Given the description of an element on the screen output the (x, y) to click on. 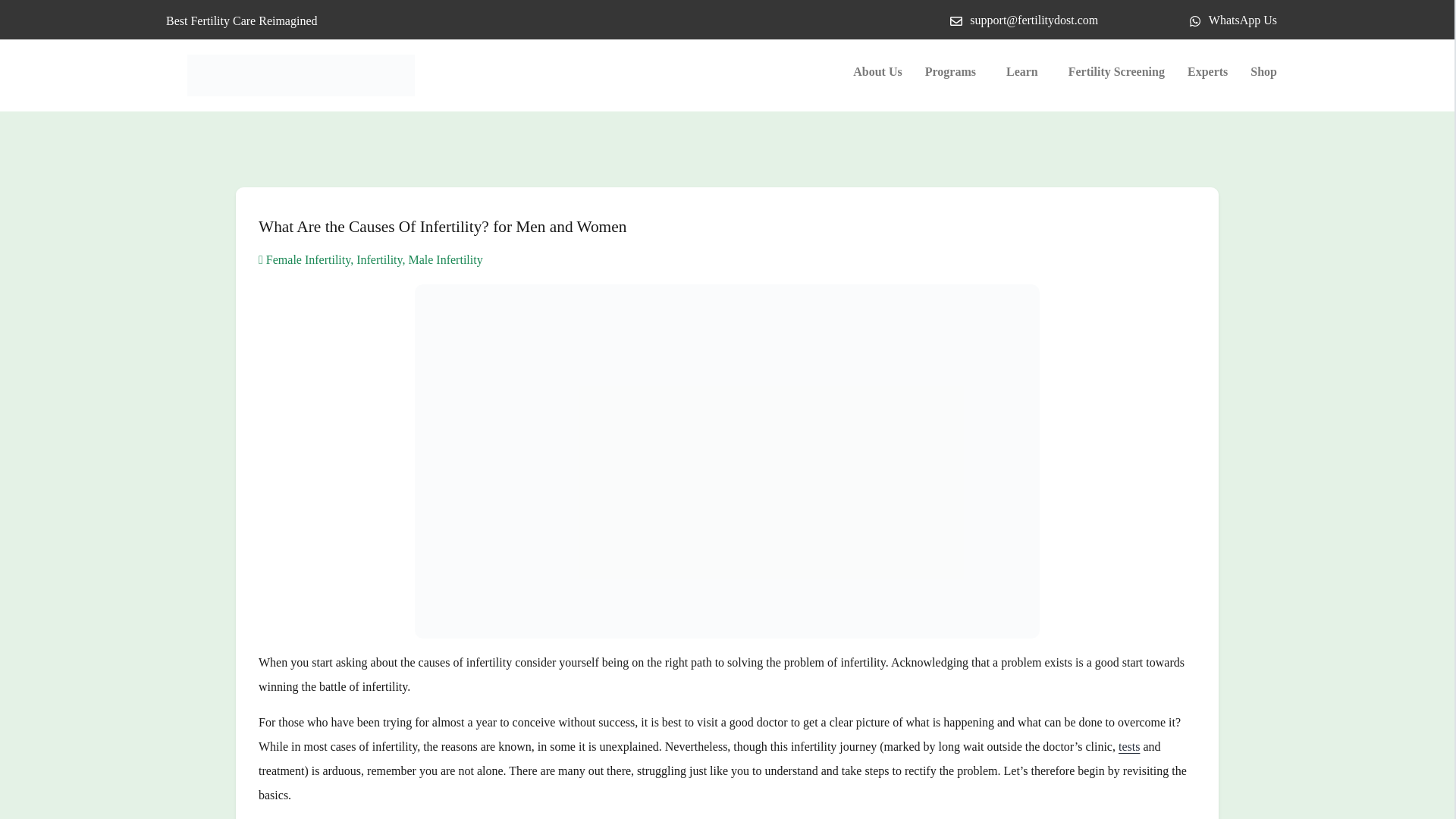
tests (1129, 746)
Shop (1263, 71)
WhatsApp Us (1232, 20)
Female Infertility, Infertility, Male Infertility (371, 259)
Programs (954, 71)
About Us (876, 71)
Learn (1025, 71)
Fertility Screening (1116, 71)
Experts (1207, 71)
